Given the description of an element on the screen output the (x, y) to click on. 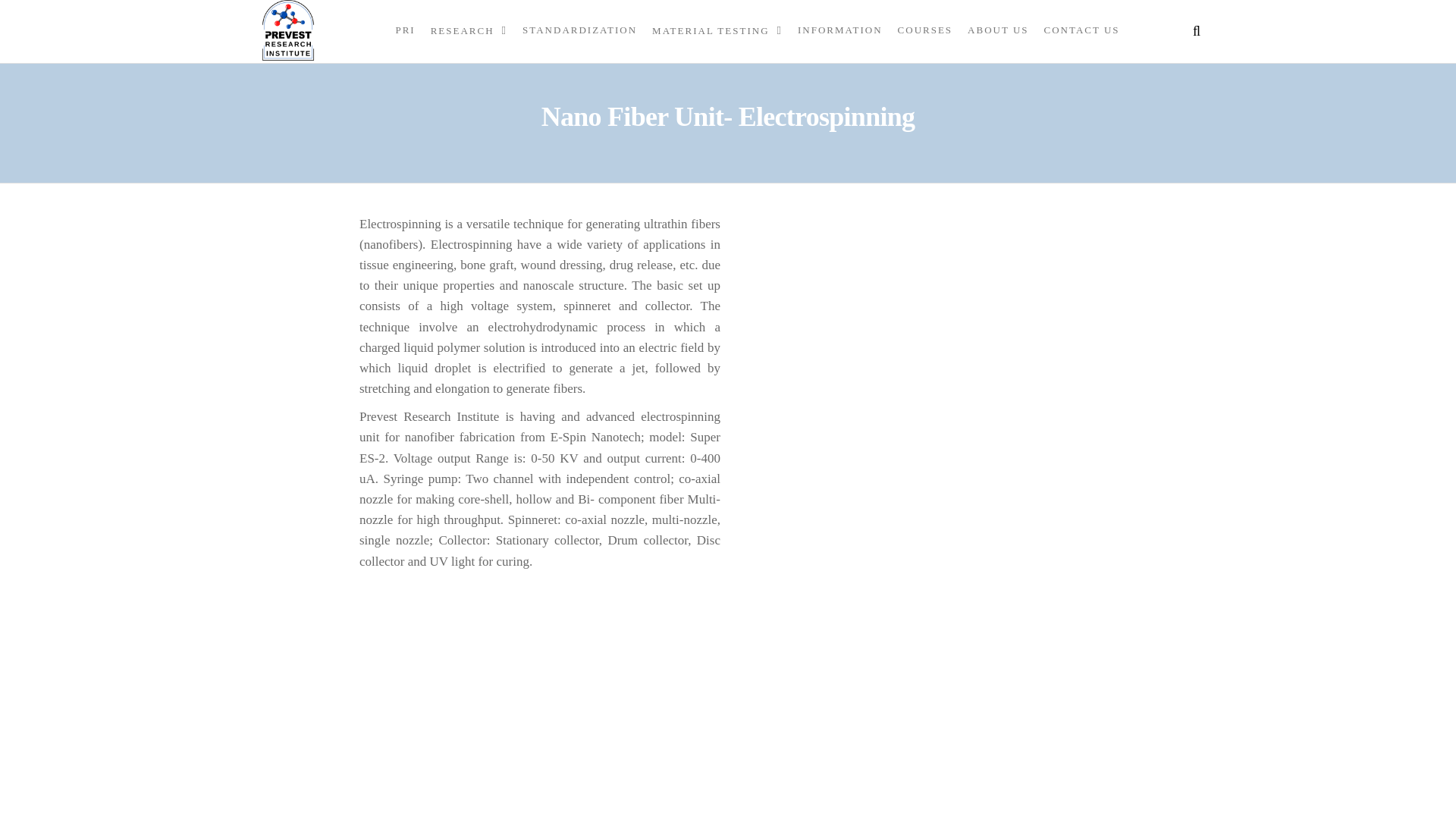
Contact us (1081, 30)
About us (997, 30)
ABOUT US (997, 30)
Courses (924, 30)
CONTACT US (1081, 30)
COURSES (924, 30)
Material Testing (717, 30)
RESEARCH (469, 30)
MATERIAL TESTING (717, 30)
Standardization (580, 30)
